Given the description of an element on the screen output the (x, y) to click on. 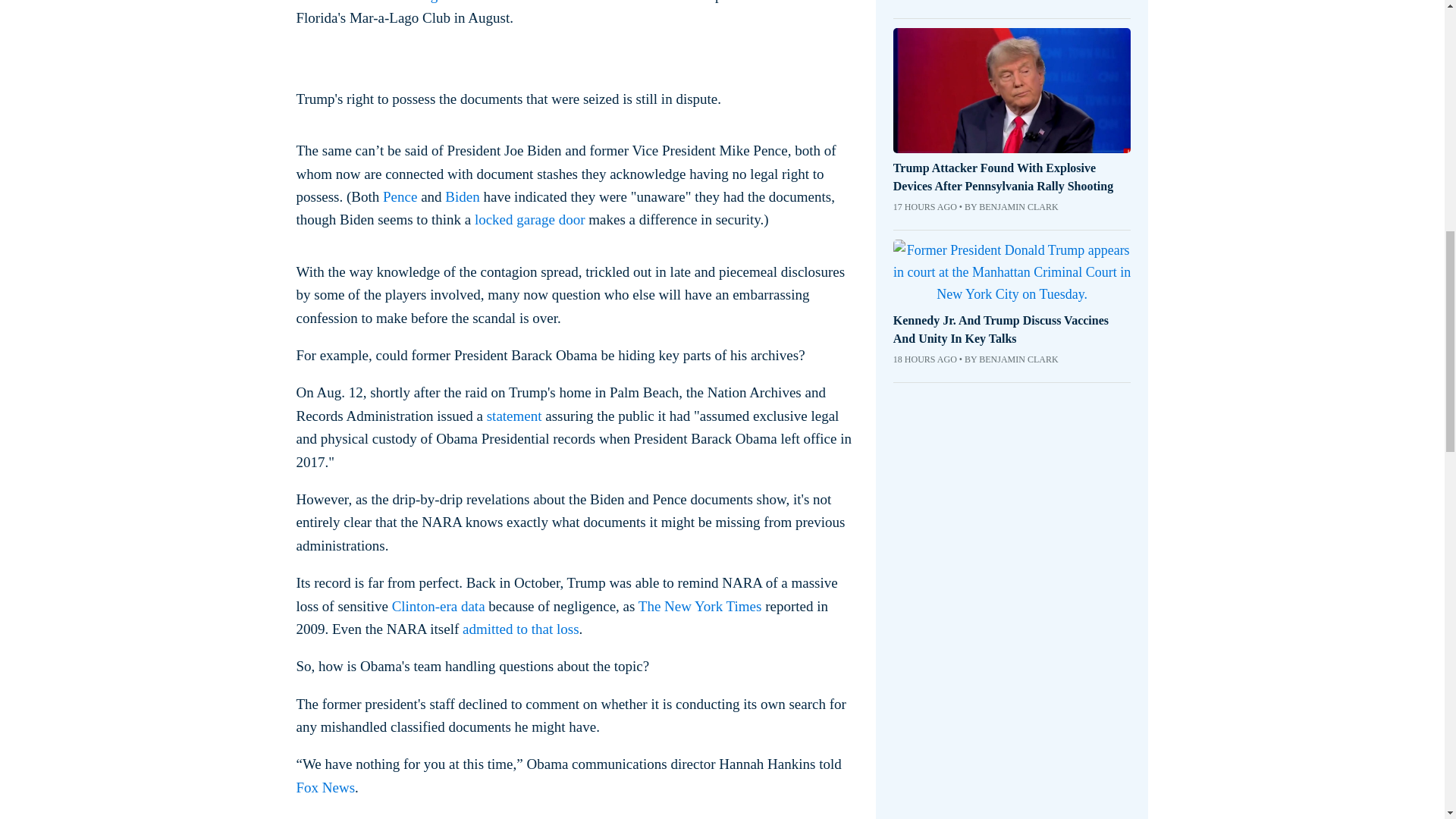
Biden (462, 196)
outrageous FBI raid (458, 1)
The New York Times (700, 606)
statement (513, 415)
Fox News (325, 787)
locked garage door (529, 219)
admitted to that loss (521, 628)
Clinton-era data (437, 606)
Pence (399, 196)
